Given the description of an element on the screen output the (x, y) to click on. 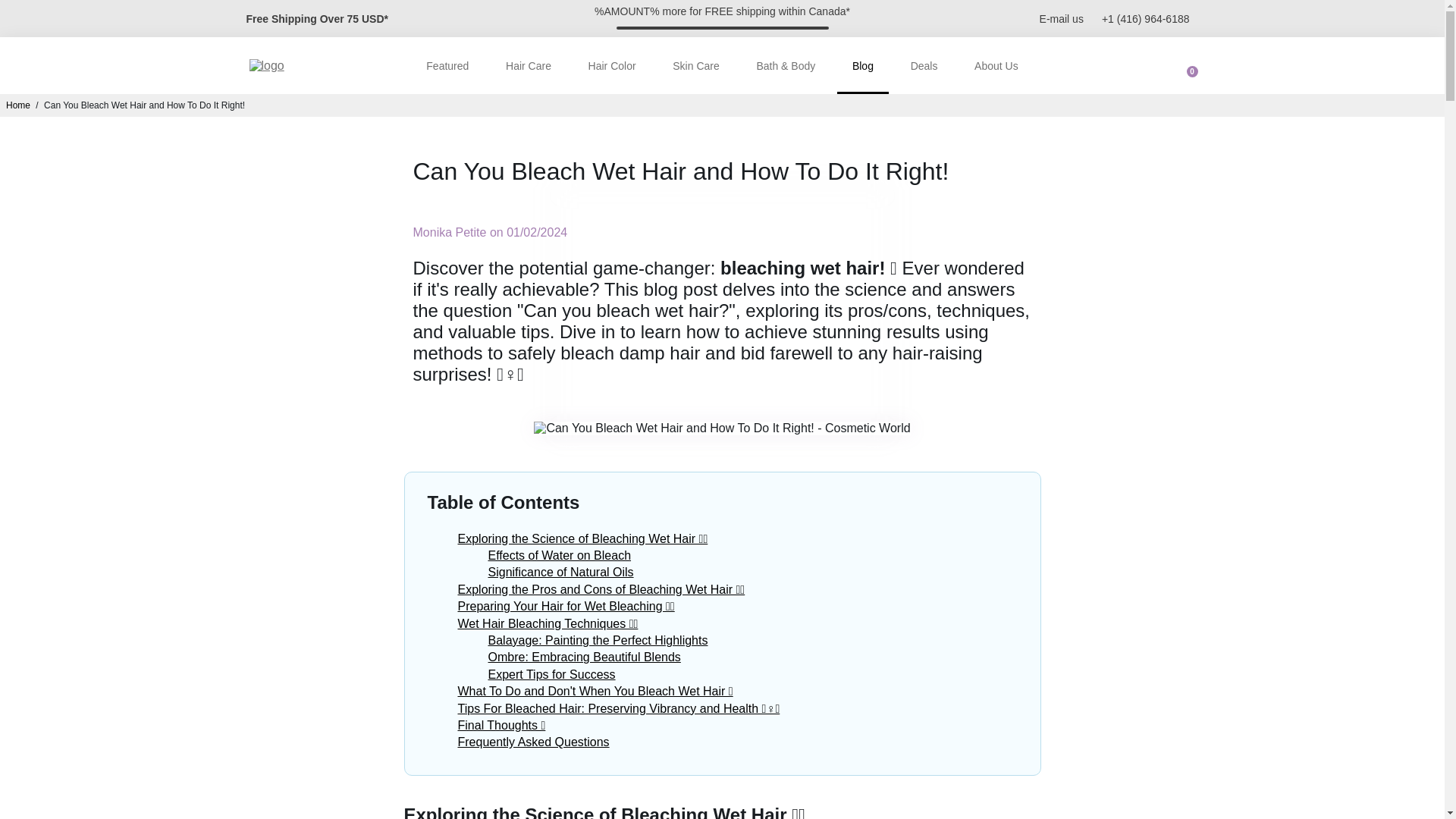
Hair Care (528, 65)
E-mail us (1061, 18)
Home (17, 104)
Featured (446, 65)
